Given the description of an element on the screen output the (x, y) to click on. 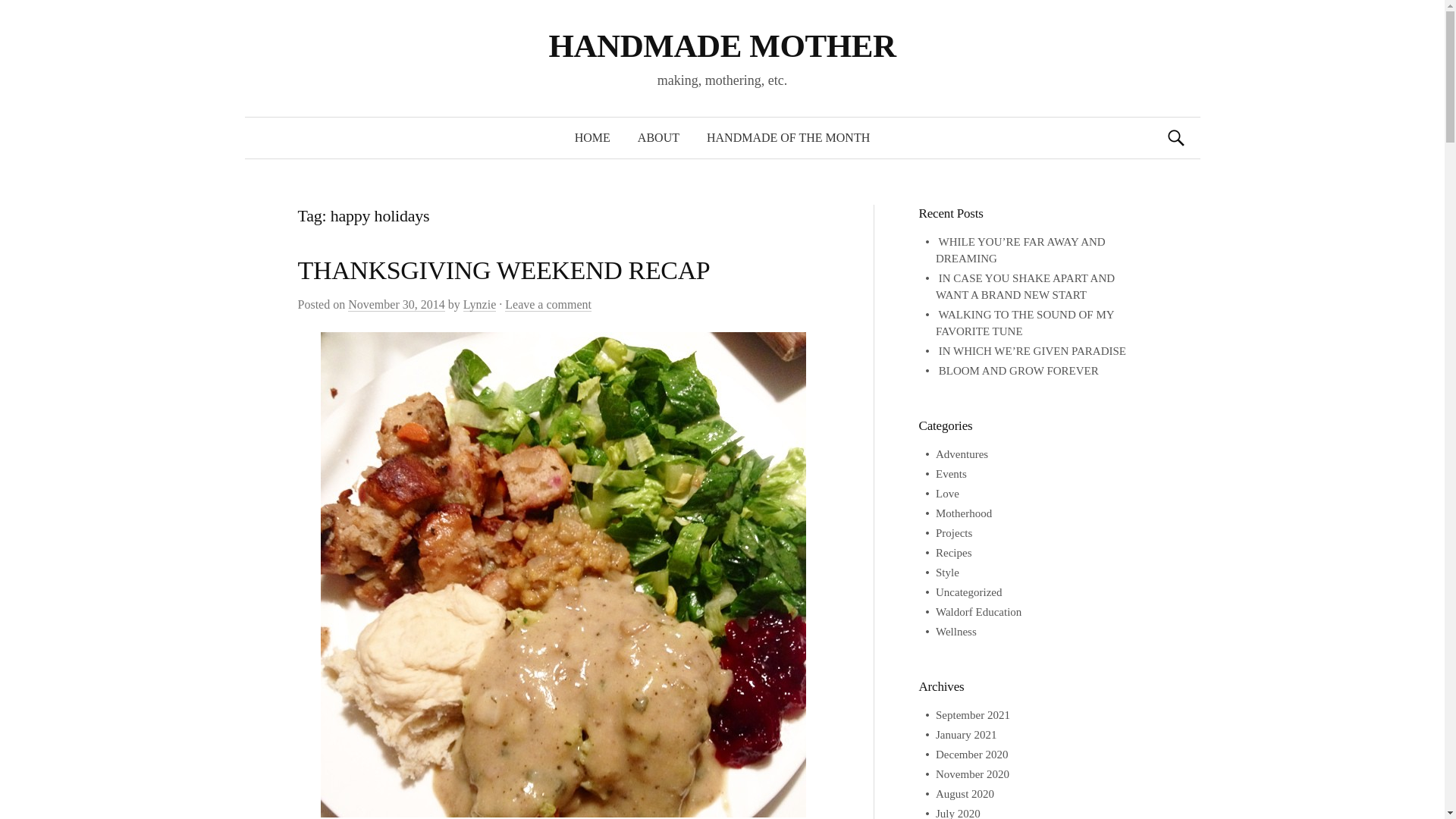
Adventures (962, 453)
Leave a comment (548, 305)
Projects (954, 532)
HANDMADE MOTHER (721, 45)
THANKSGIVING WEEKEND RECAP (503, 270)
November 30, 2014 (396, 305)
WALKING TO THE SOUND OF MY FAVORITE TUNE (1024, 322)
BLOOM AND GROW FOREVER (1019, 370)
July 2020 (957, 813)
Style (947, 572)
December 2020 (971, 754)
November 2020 (972, 774)
Events (951, 473)
Lynzie (479, 305)
Wellness (956, 631)
